Given the description of an element on the screen output the (x, y) to click on. 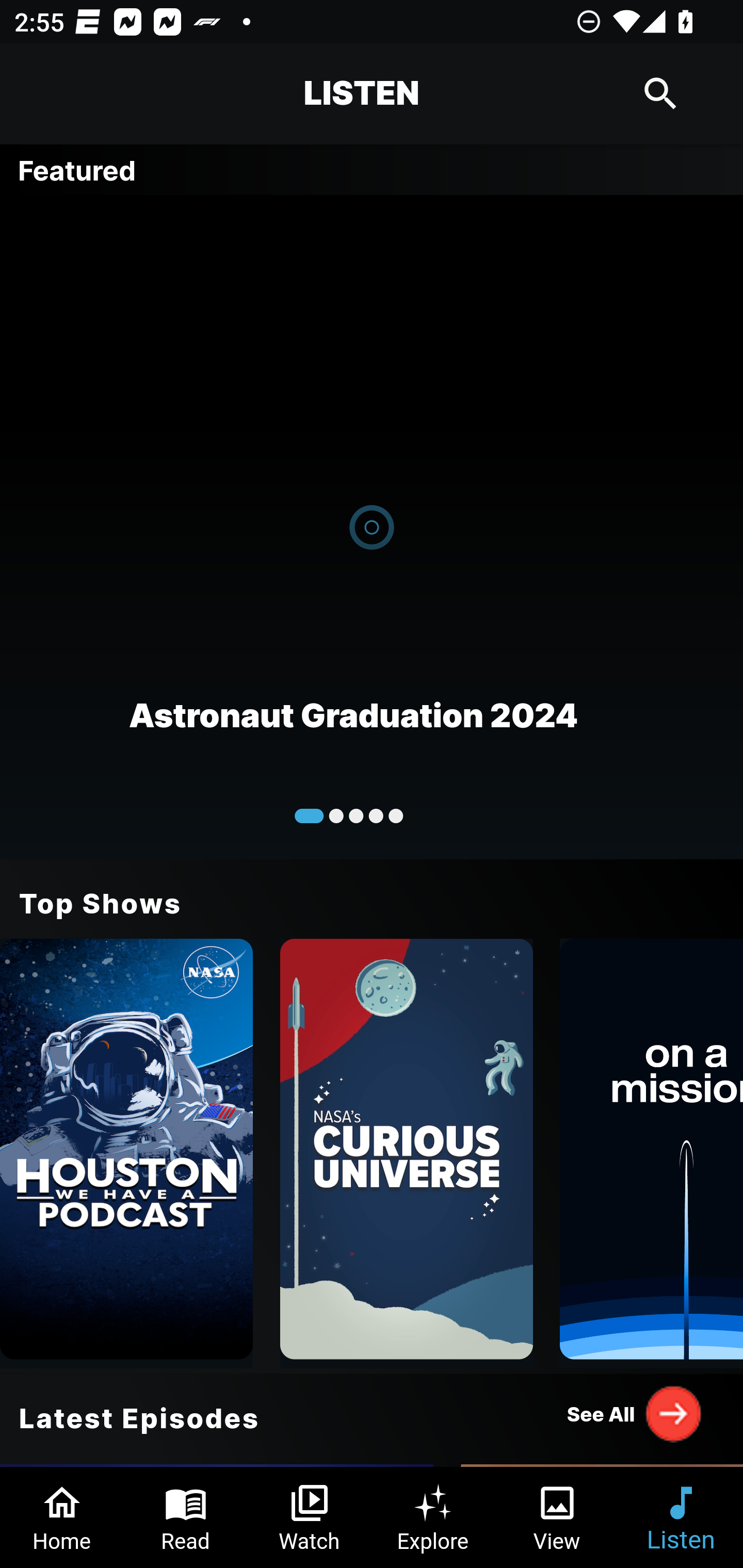
Astronaut Graduation 2024 (371, 526)
See All (634, 1413)
Home
Tab 1 of 6 (62, 1517)
Read
Tab 2 of 6 (185, 1517)
Watch
Tab 3 of 6 (309, 1517)
Explore
Tab 4 of 6 (433, 1517)
View
Tab 5 of 6 (556, 1517)
Listen
Tab 6 of 6 (680, 1517)
